Given the description of an element on the screen output the (x, y) to click on. 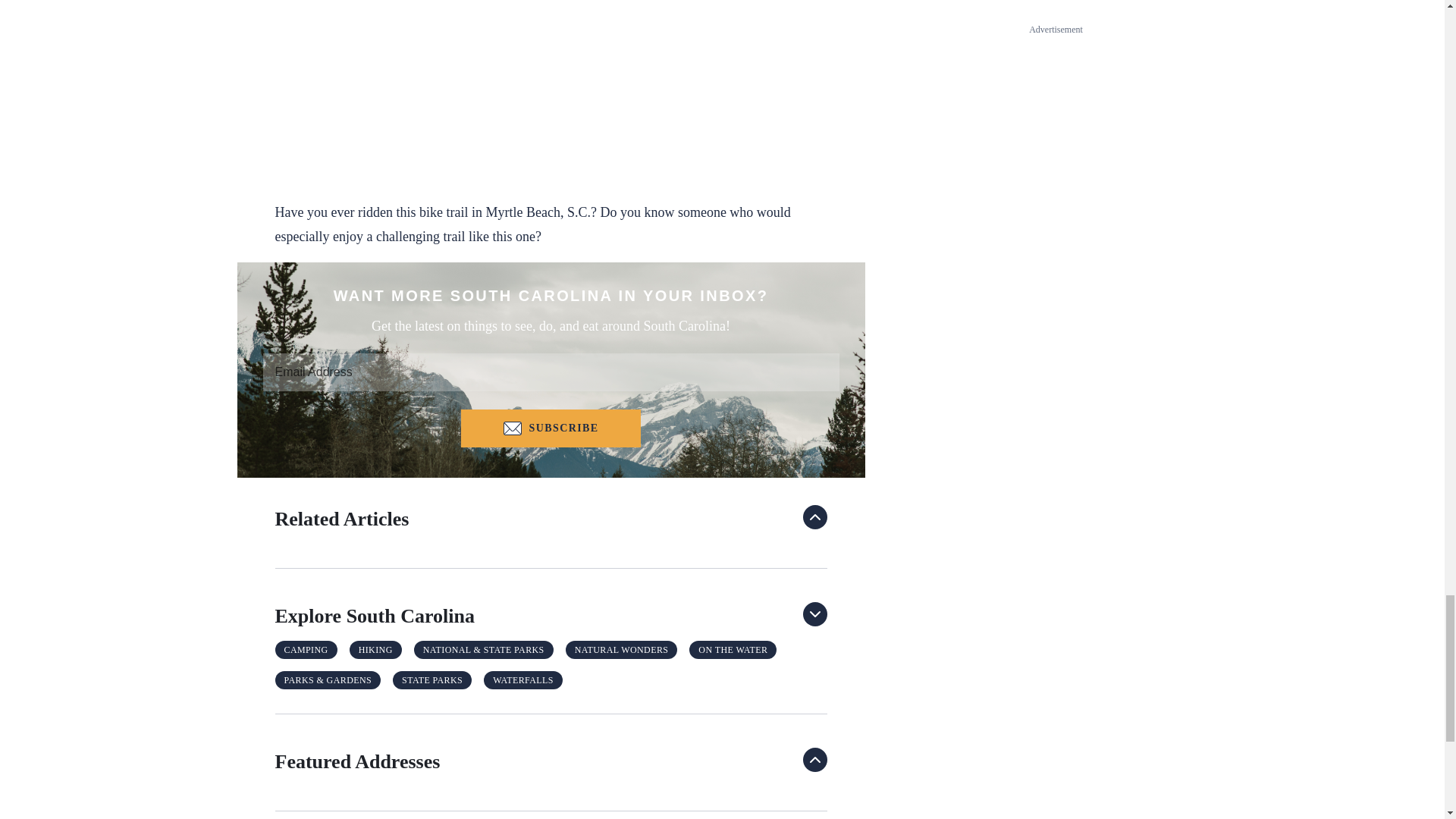
Waterfalls (523, 679)
State Parks (432, 679)
Camping (305, 649)
YouTube video player (549, 84)
On the Water (732, 649)
Natural Wonders (621, 649)
Hiking (375, 649)
